Given the description of an element on the screen output the (x, y) to click on. 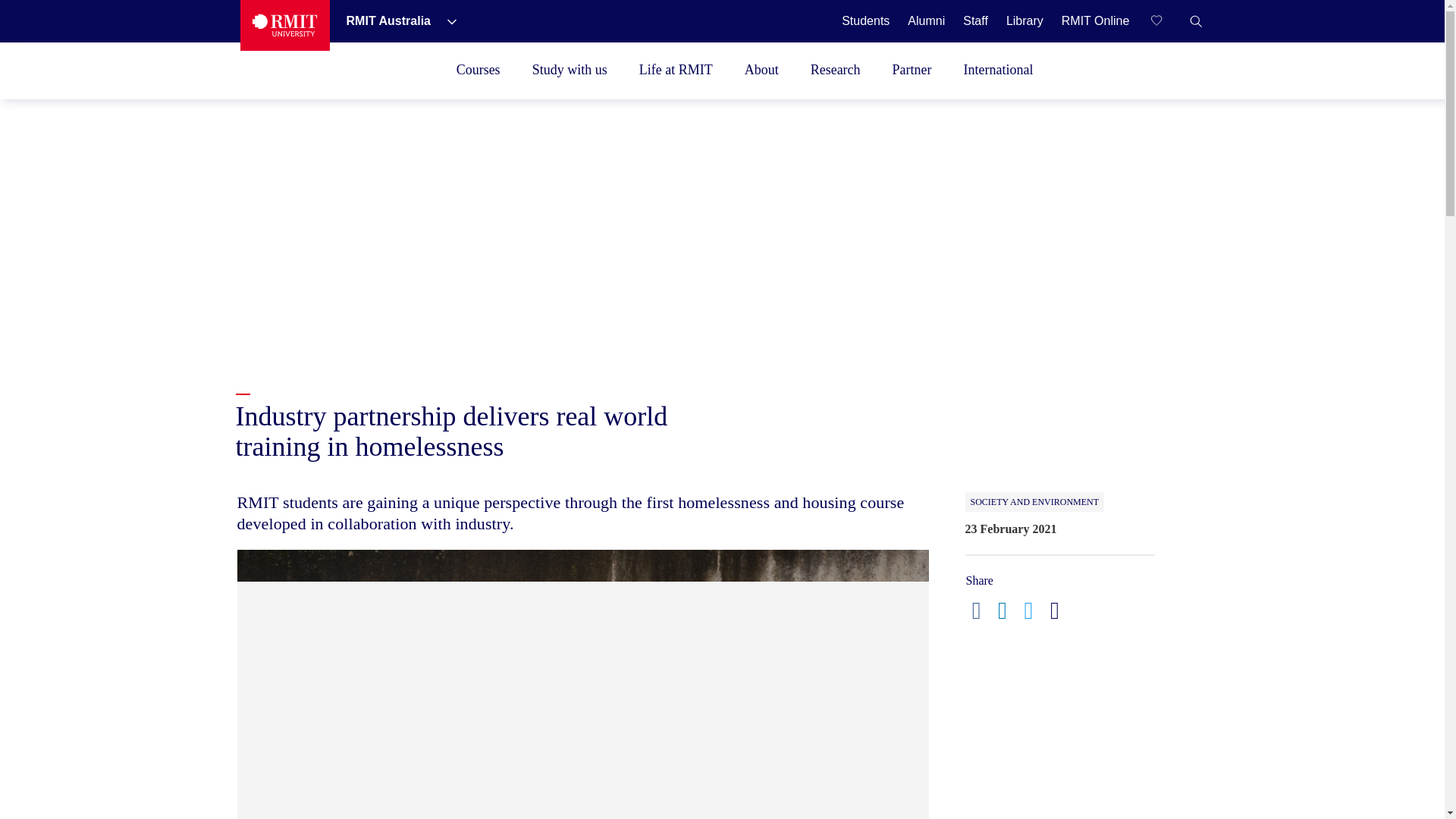
Alumni (925, 20)
Staff (975, 20)
Students (865, 20)
Courses (478, 69)
Library (1024, 20)
RMIT Online (1095, 20)
RMIT Australia (390, 20)
